Given the description of an element on the screen output the (x, y) to click on. 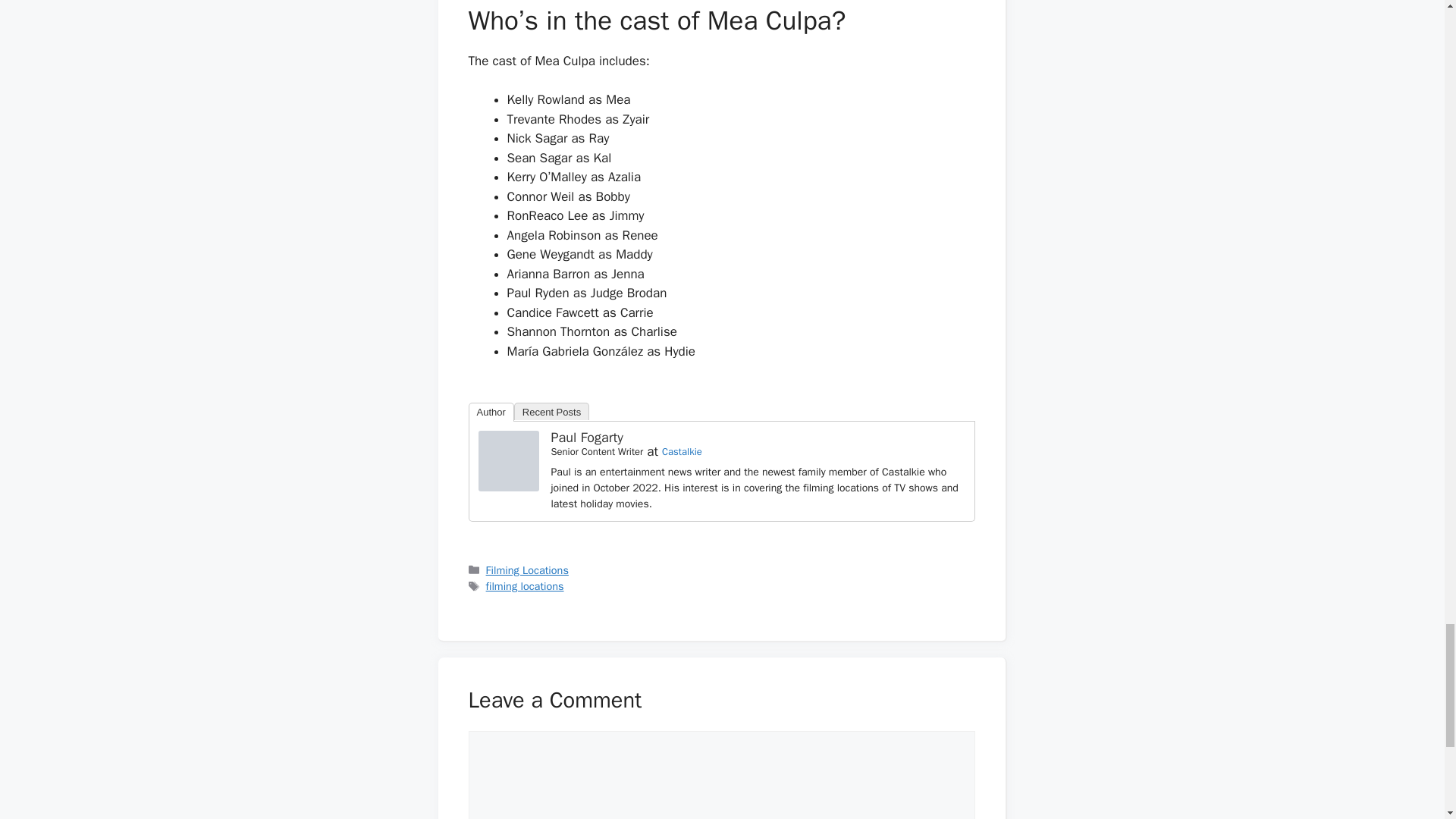
Author (490, 411)
Paul Fogarty (586, 437)
Recent Posts (551, 411)
Castalkie (681, 451)
Where was Mea Culpa filmed? See All Netflix Movie Locations (507, 460)
Filming Locations (527, 570)
filming locations (525, 585)
Paul Fogarty (507, 487)
